Given the description of an element on the screen output the (x, y) to click on. 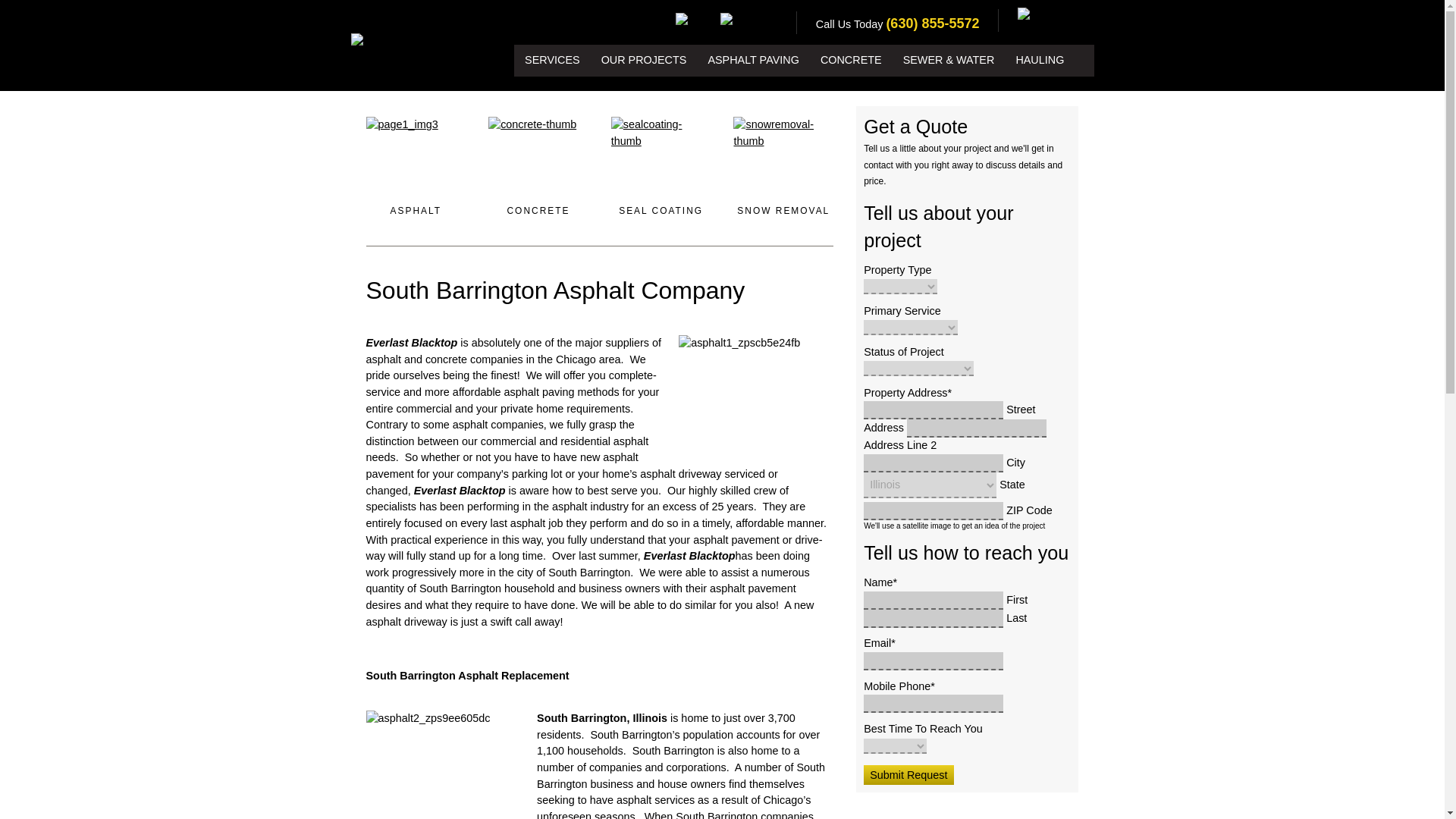
SERVICES (552, 60)
Sealcoating (661, 155)
SEAL COATING (660, 210)
CONCRETE (537, 210)
Snow Removal (782, 210)
Asphalt and Paving (416, 210)
Snow Removal (782, 155)
Submit Request (908, 774)
CONCRETE (850, 60)
Concrete (537, 210)
